Given the description of an element on the screen output the (x, y) to click on. 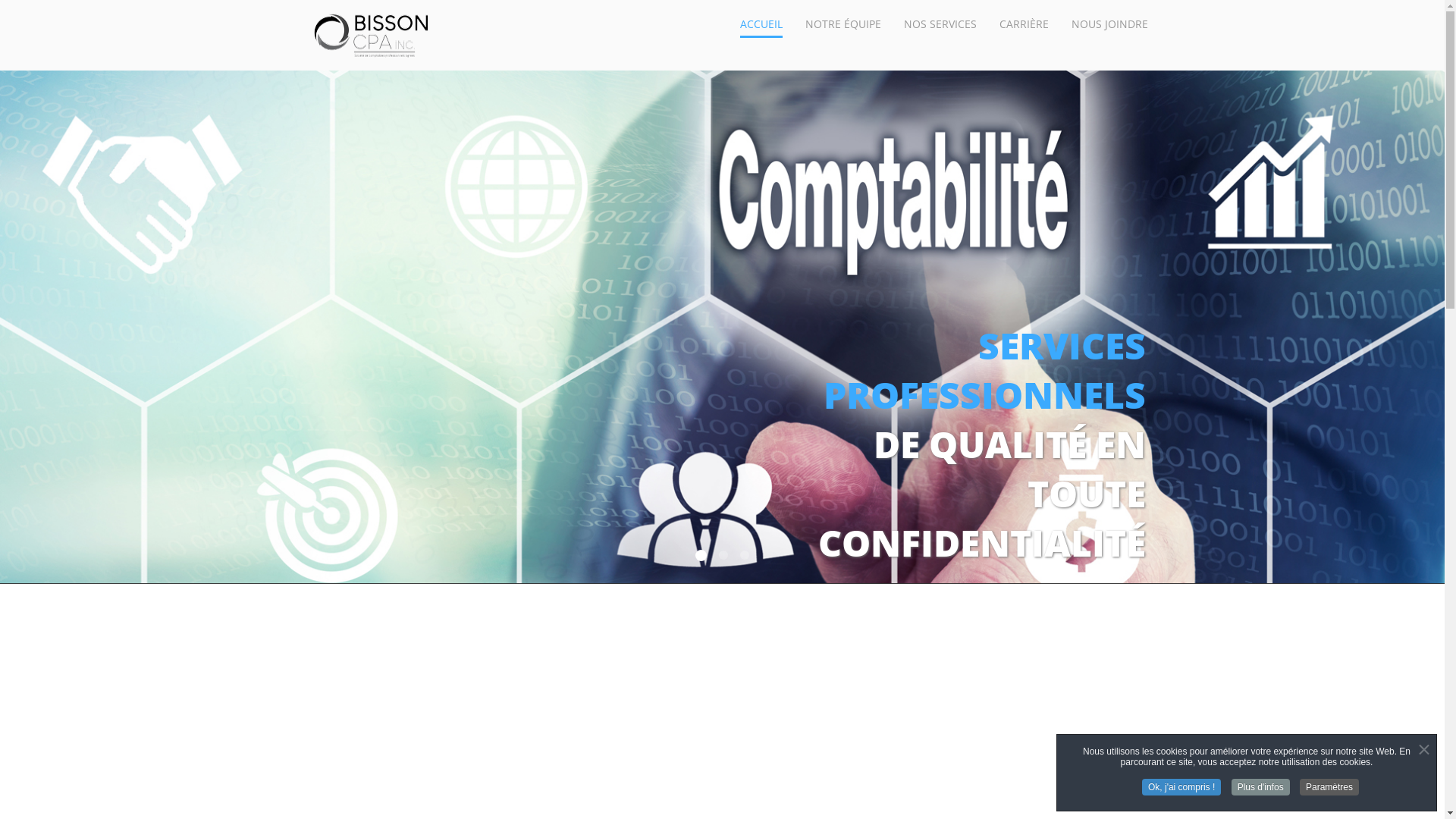
ACCUEIL Element type: text (761, 24)
Refuser tous les cookies Element type: text (727, 584)
1 Element type: text (682, 285)
Autoriser tous les cookies Element type: text (578, 584)
NOUS JOINDRE Element type: text (1108, 23)
Ok, j'ai compris ! Element type: text (1181, 786)
NOS SERVICES Element type: text (939, 23)
Plus d'infos Element type: text (1260, 786)
